Given the description of an element on the screen output the (x, y) to click on. 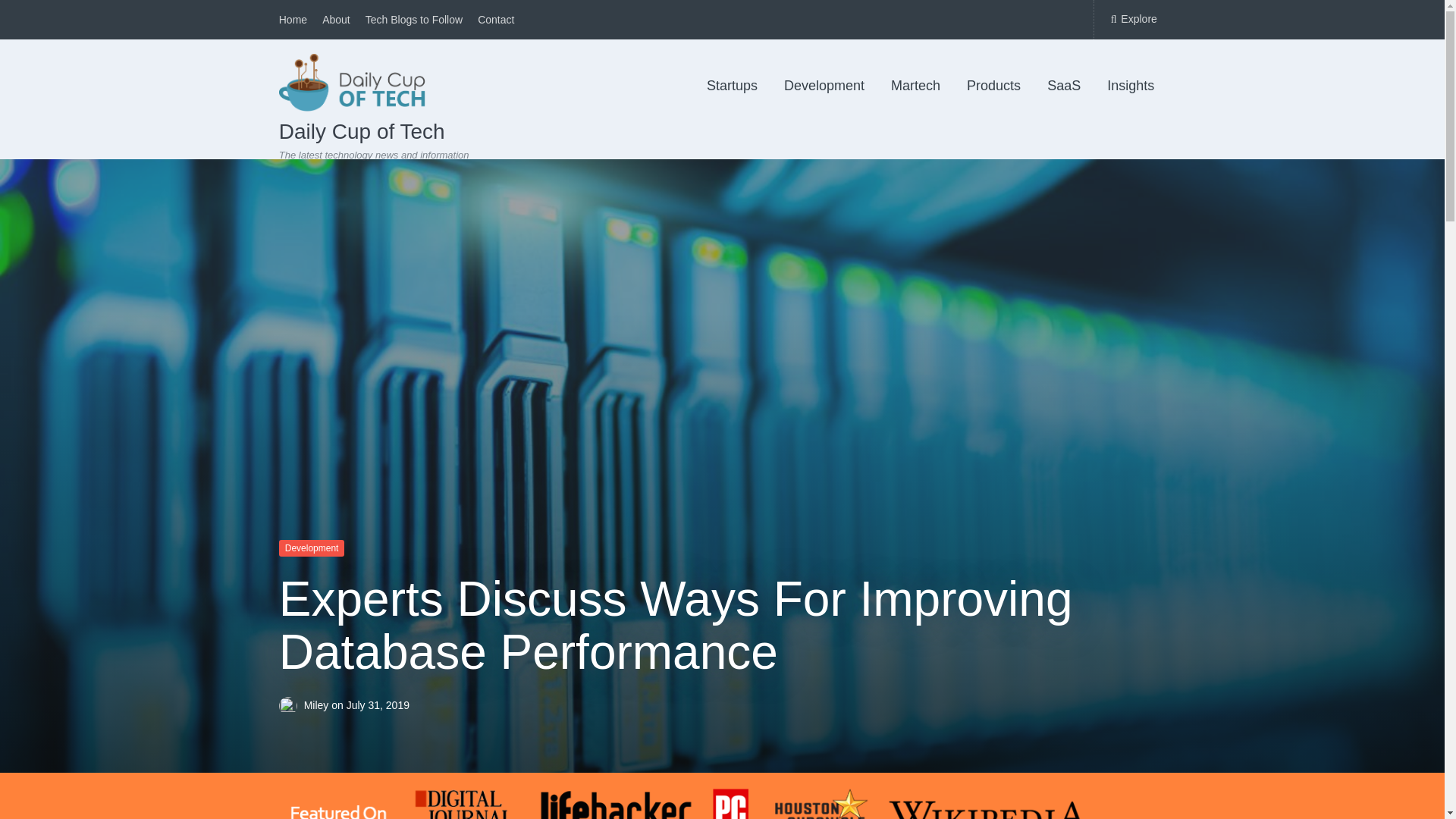
Tech Blogs to Follow (414, 19)
Contact (495, 19)
